Given the description of an element on the screen output the (x, y) to click on. 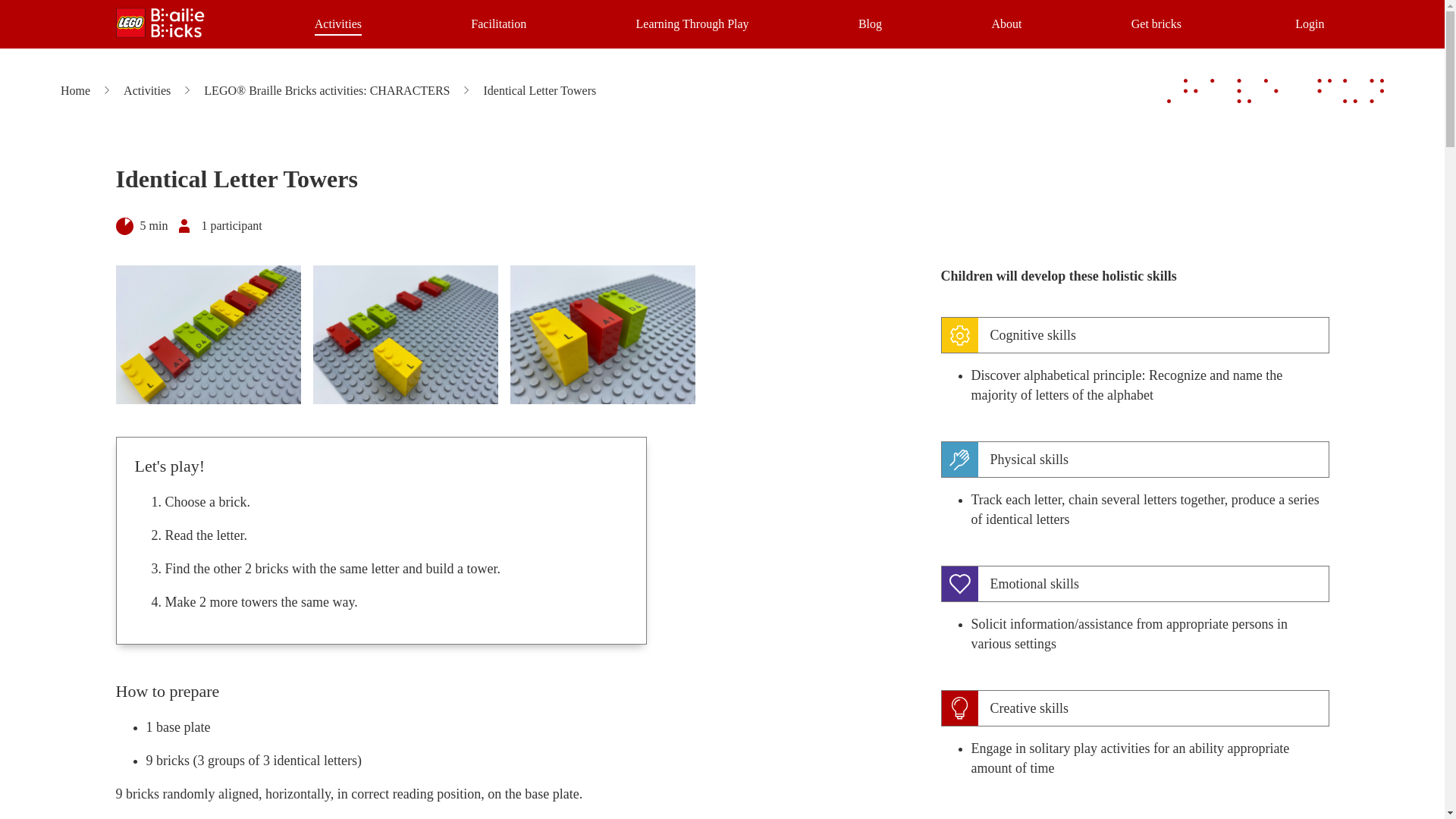
Activities (337, 24)
Home (75, 90)
cognitive skills (1133, 334)
Activities (146, 90)
Get bricks (1155, 24)
creative skills (1133, 708)
emotional skills (1133, 583)
physical skills (1133, 459)
Learning Through Play (692, 24)
About (1006, 24)
